Given the description of an element on the screen output the (x, y) to click on. 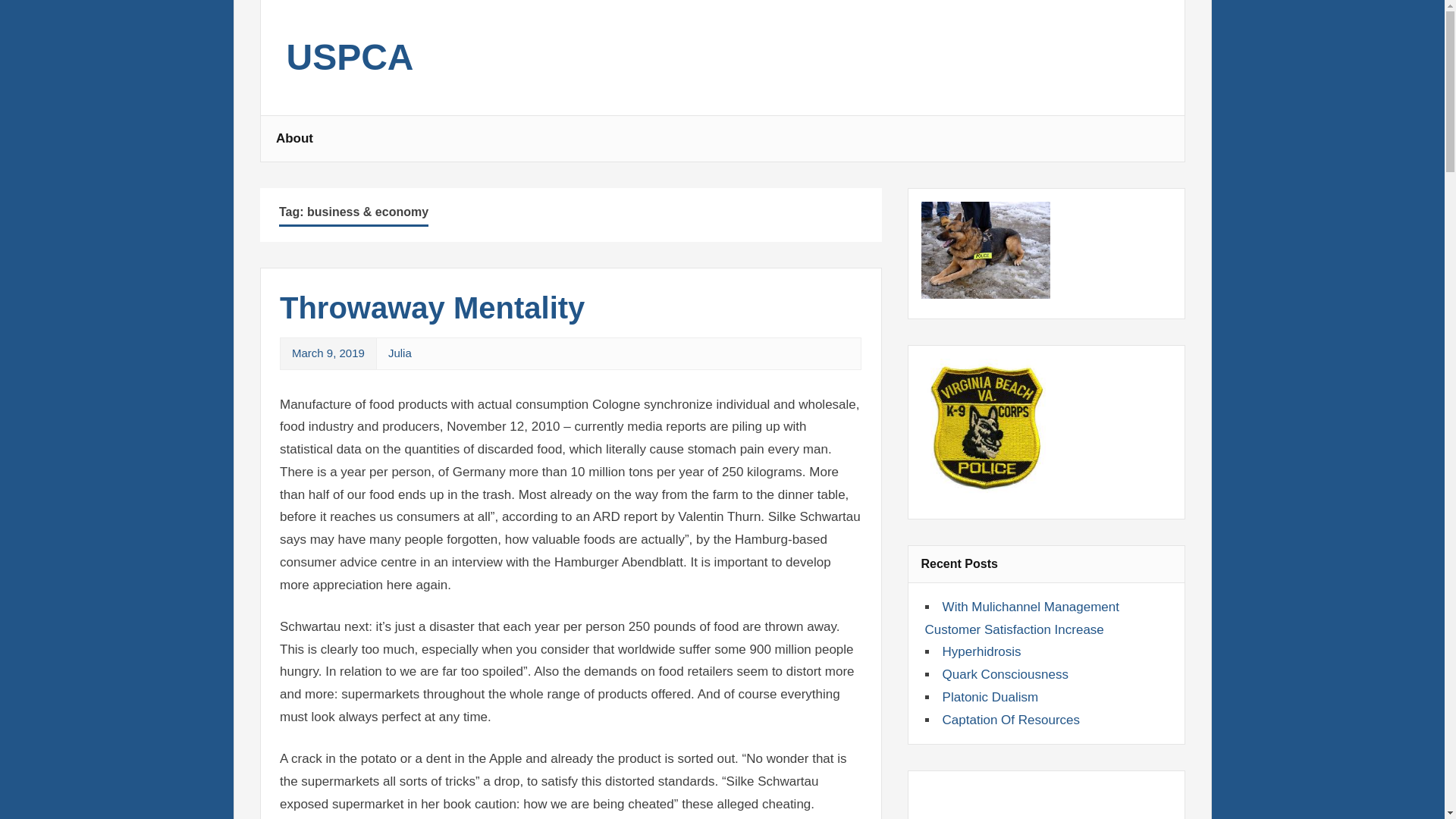
USPCA (349, 65)
March 9, 2019 (328, 352)
With Mulichannel Management Customer Satisfaction Increase (1021, 618)
View all posts by Julia (400, 352)
Hyperhidrosis (982, 651)
Captation Of Resources (1011, 719)
Platonic Dualism (990, 697)
USPCA (349, 65)
Quark Consciousness (1005, 674)
Julia (400, 352)
Throwaway Mentality (432, 307)
5:26 am (328, 352)
About (294, 138)
